Given the description of an element on the screen output the (x, y) to click on. 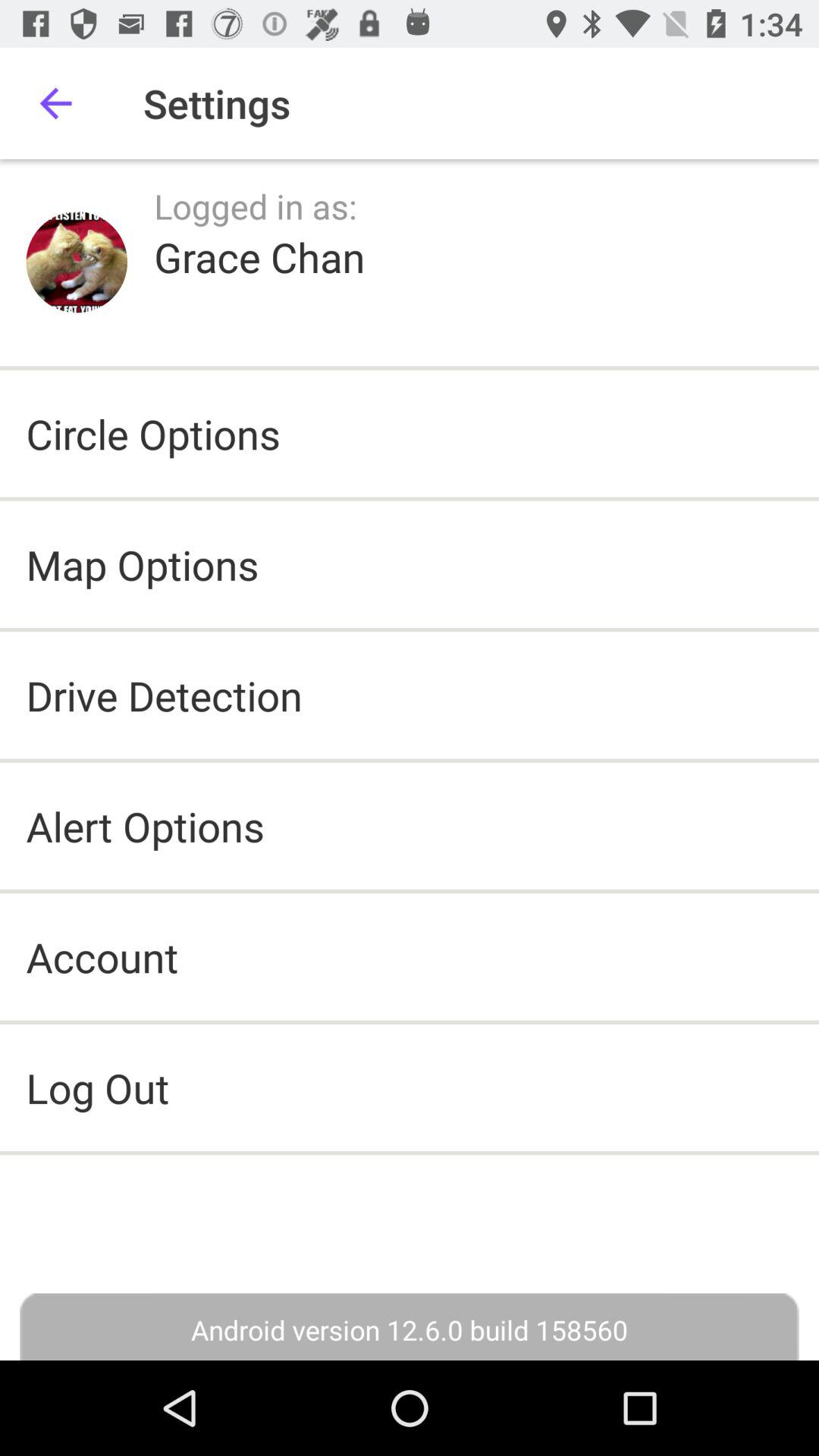
jump until drive detection icon (164, 694)
